Given the description of an element on the screen output the (x, y) to click on. 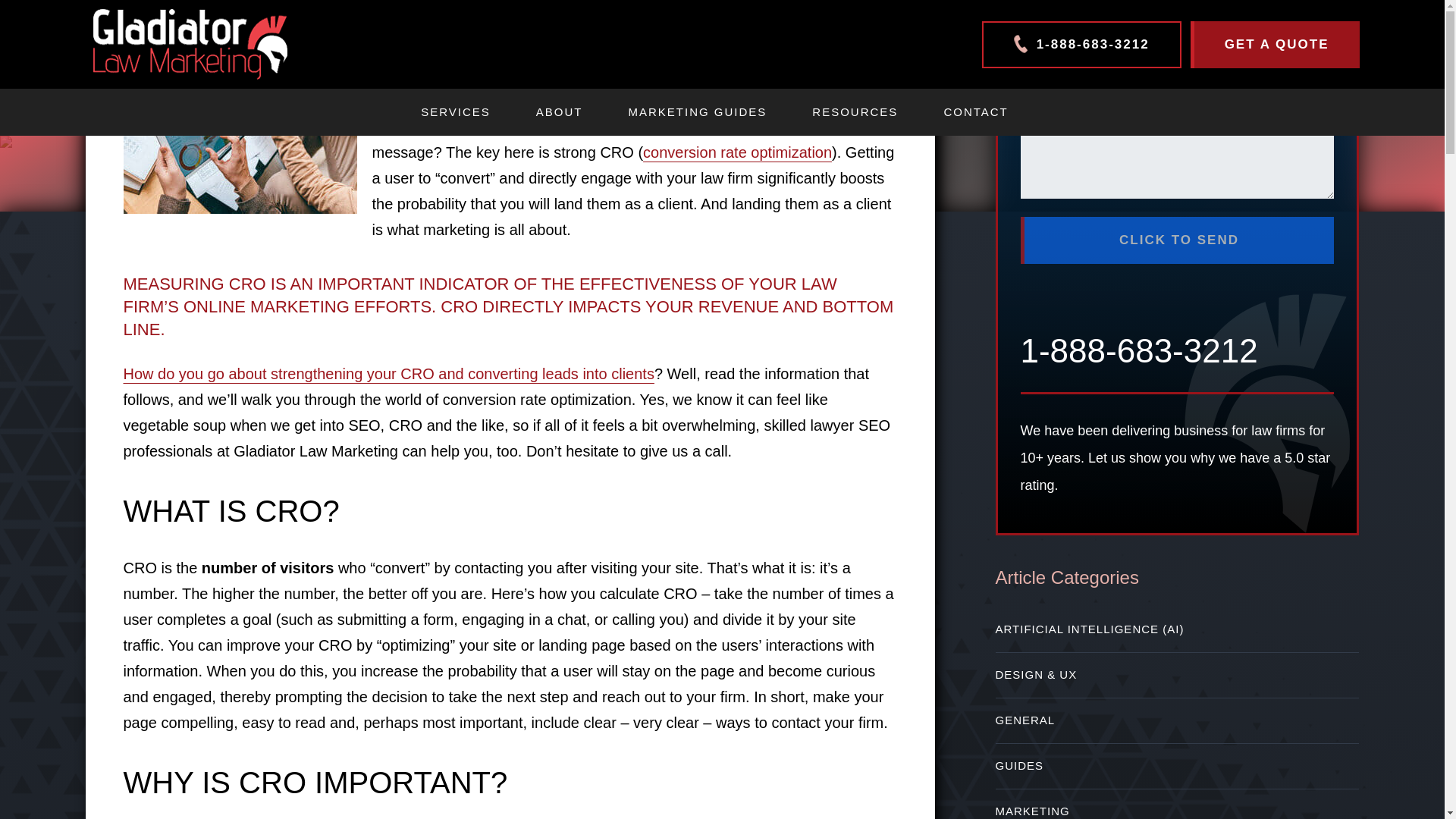
MARKETING GUIDES (697, 111)
ABOUT (559, 111)
CLICK TO SEND (1177, 240)
SERVICES (455, 111)
1-888-683-3212 (1080, 44)
GET A QUOTE (1275, 44)
